Given the description of an element on the screen output the (x, y) to click on. 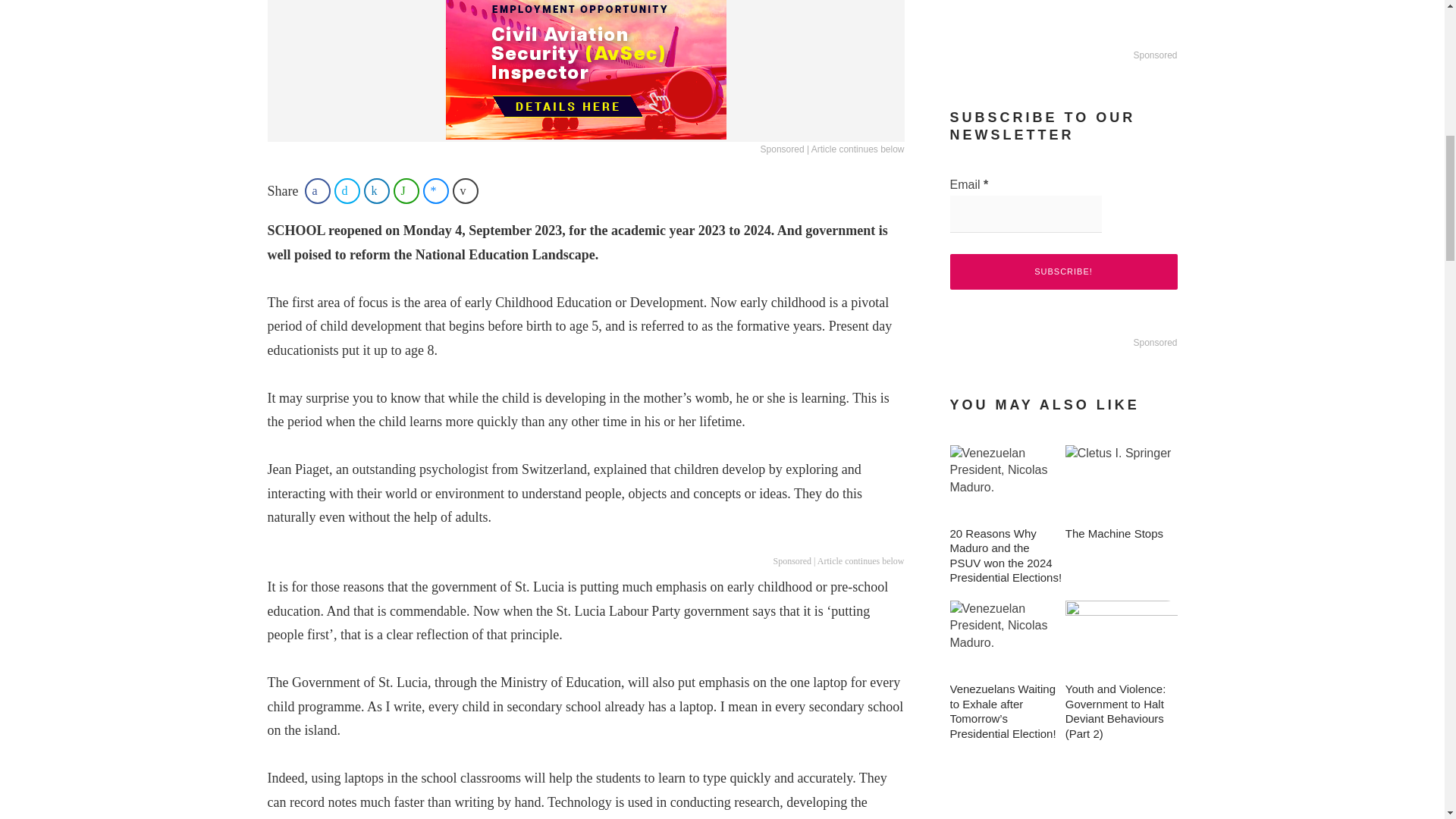
Share on Email (465, 190)
Share on Facebook Messenger (435, 190)
Share on WhatsApp (406, 190)
Share on LinkedIn (377, 190)
Share on Facebook (317, 190)
Subscribe! (1062, 271)
Email (1024, 213)
Share on Twitter (346, 190)
